Given the description of an element on the screen output the (x, y) to click on. 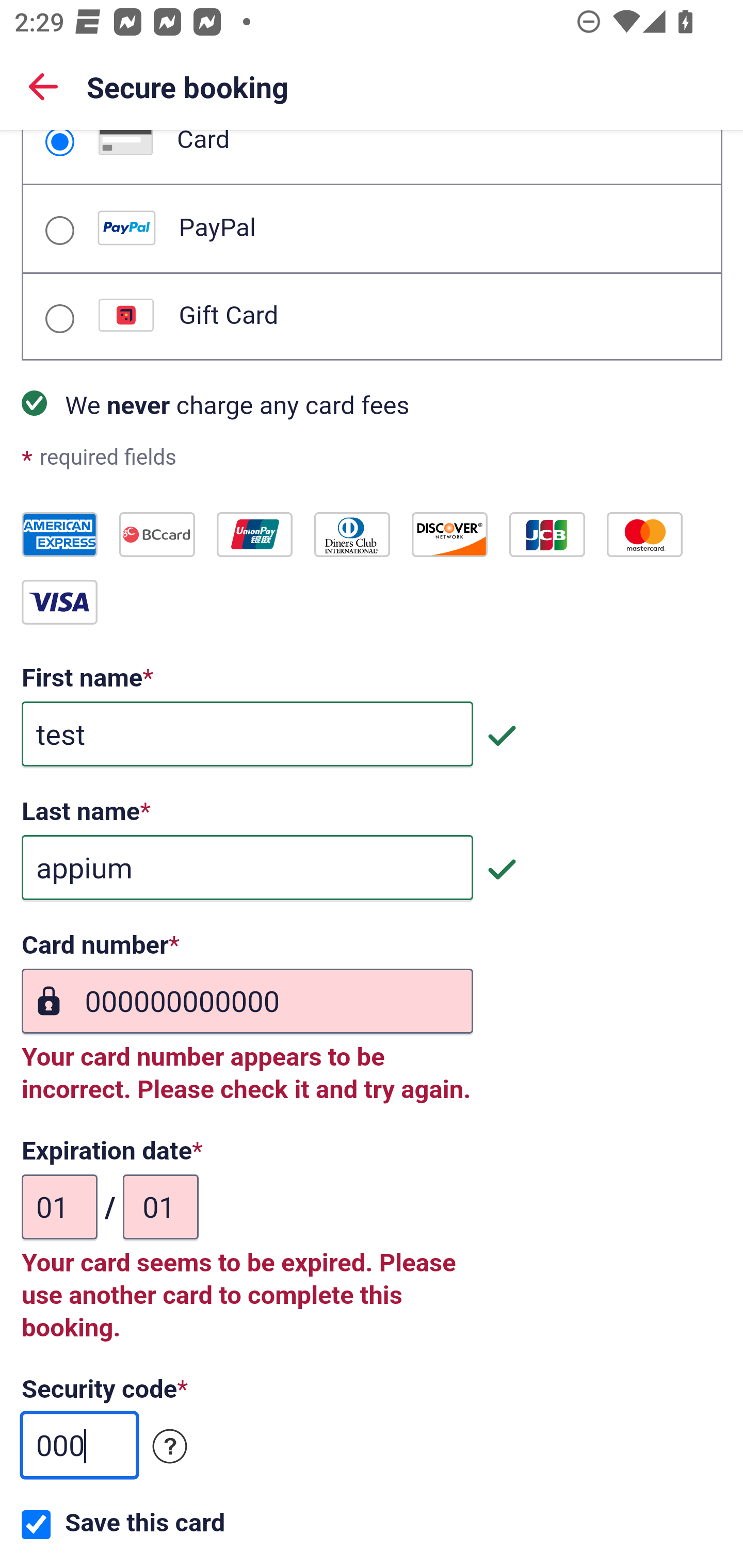
Back (43, 86)
Card (59, 143)
PayPal (59, 230)
Gift Card (59, 318)
test (247, 734)
appium (247, 868)
000000000000 (247, 1001)
01 (59, 1206)
01 (159, 1206)
000 (79, 1445)
Security code (170, 1447)
Save this card (36, 1524)
